Given the description of an element on the screen output the (x, y) to click on. 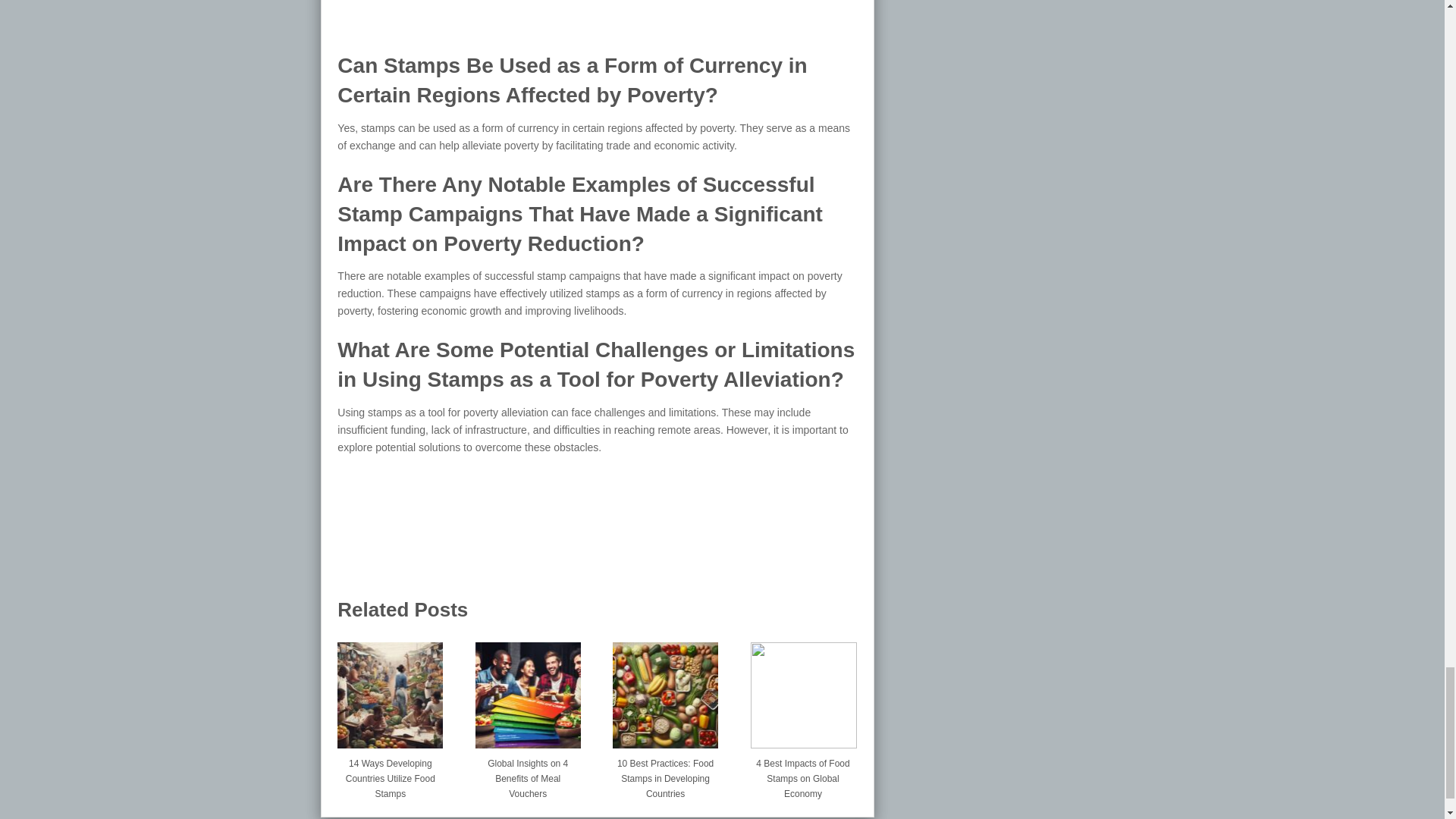
4 Best Impacts of Food Stamps on Global Economy (803, 774)
Global Insights on 4 Benefits of Meal Vouchers (528, 774)
Global Insights on 4 Benefits of Meal Vouchers (528, 774)
10 Best Practices: Food Stamps in Developing Countries (664, 774)
4 Best Impacts of Food Stamps on Global Economy (803, 774)
14 Ways Developing Countries Utilize Food Stamps (389, 689)
10 Best Practices: Food Stamps in Developing Countries (664, 689)
14 Ways Developing Countries Utilize Food Stamps (389, 774)
4 Best Impacts of Food Stamps on Global Economy (803, 689)
14 Ways Developing Countries Utilize Food Stamps (389, 774)
Global Insights on 4 Benefits of Meal Vouchers (528, 689)
10 Best Practices: Food Stamps in Developing Countries (664, 774)
